Given the description of an element on the screen output the (x, y) to click on. 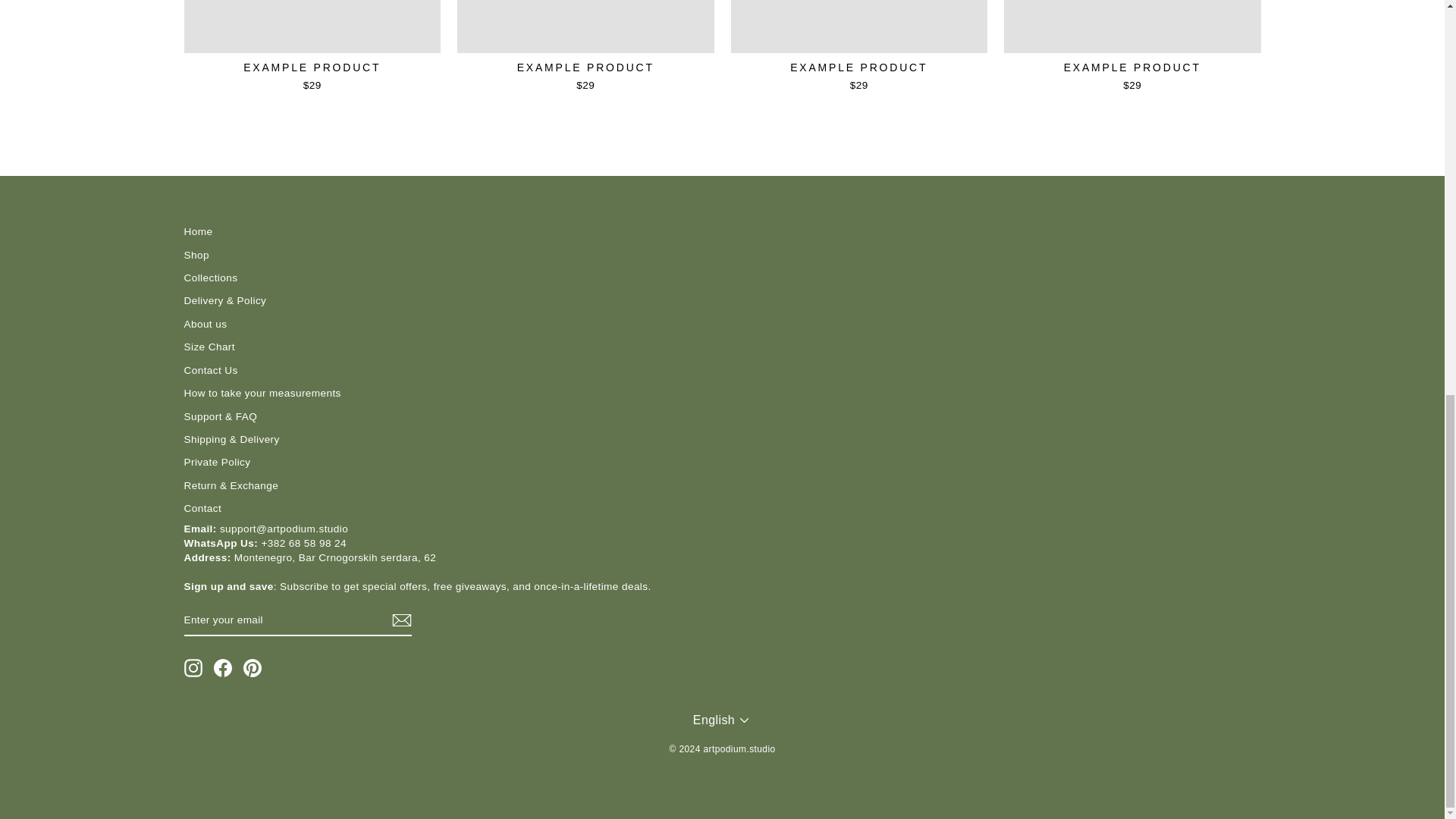
artpodium.studio on Instagram (192, 668)
artpodium.studio on Pinterest (251, 668)
artpodium.studio on Facebook (222, 668)
